Given the description of an element on the screen output the (x, y) to click on. 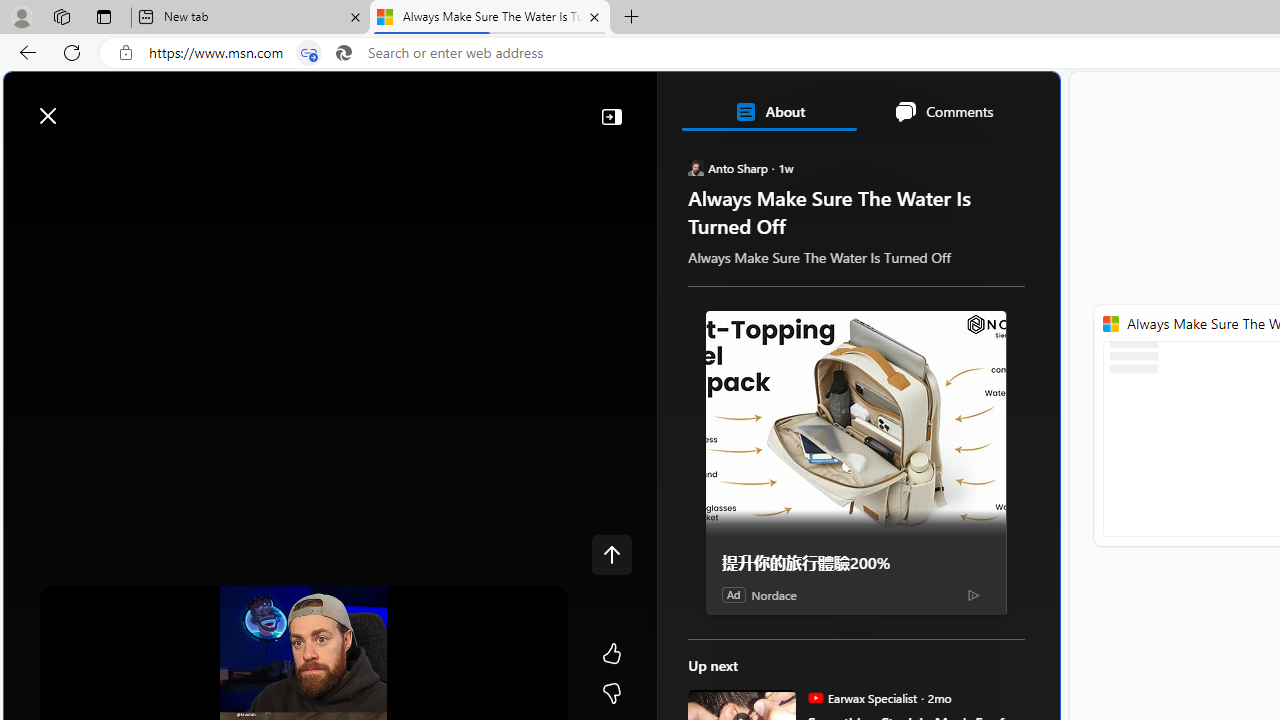
Earwax Specialist (816, 698)
Personalize (931, 162)
Earwax Specialist Earwax Specialist (862, 698)
About (769, 111)
Web search (292, 105)
Class: control icon-only (611, 554)
